Given the description of an element on the screen output the (x, y) to click on. 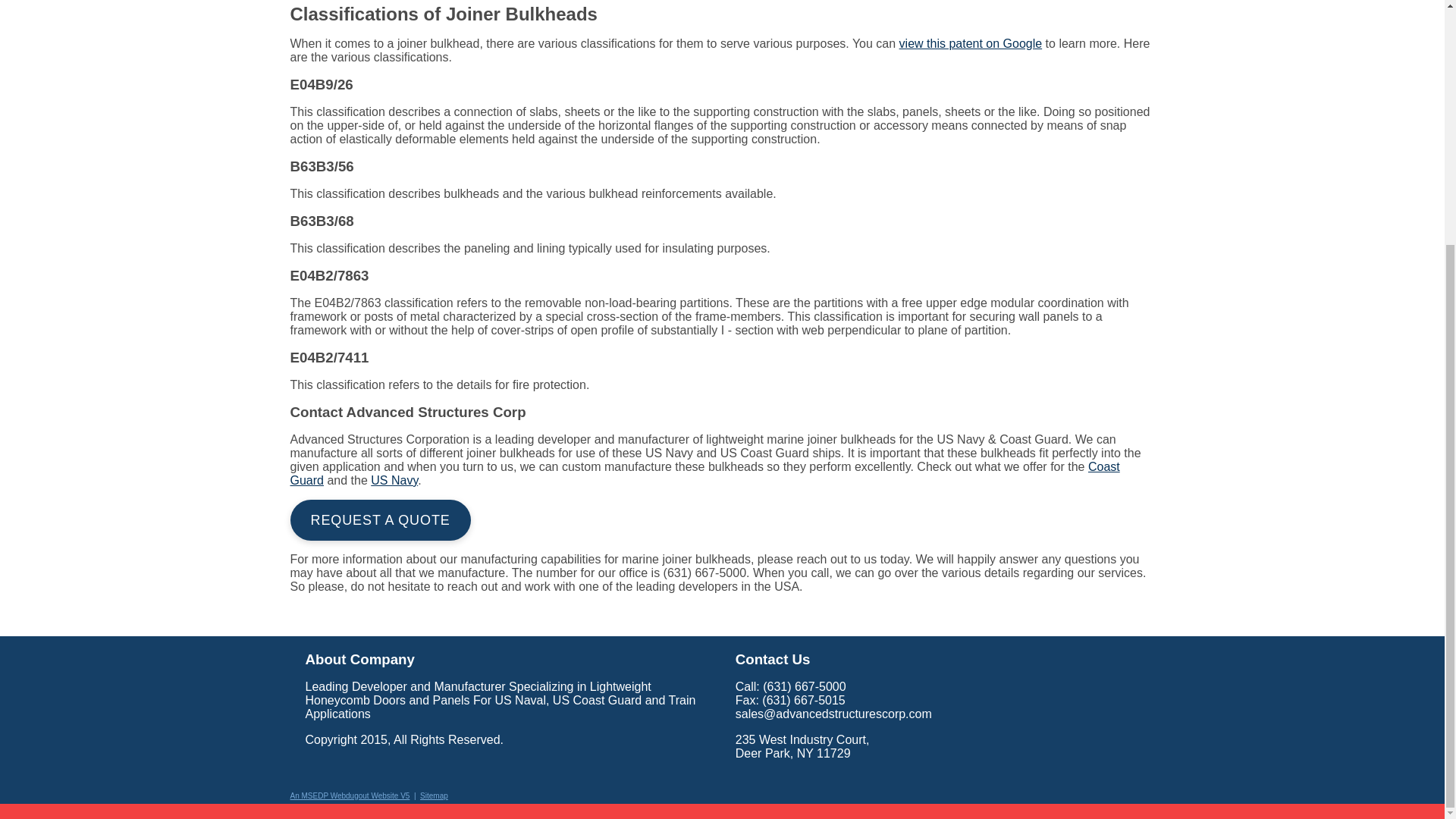
Coast Guard (704, 473)
US Navy (394, 480)
view this patent on Google (970, 42)
An MSEDP Webdugout Website V5 (349, 795)
Sitemap (434, 795)
REQUEST A QUOTE (379, 519)
